Given the description of an element on the screen output the (x, y) to click on. 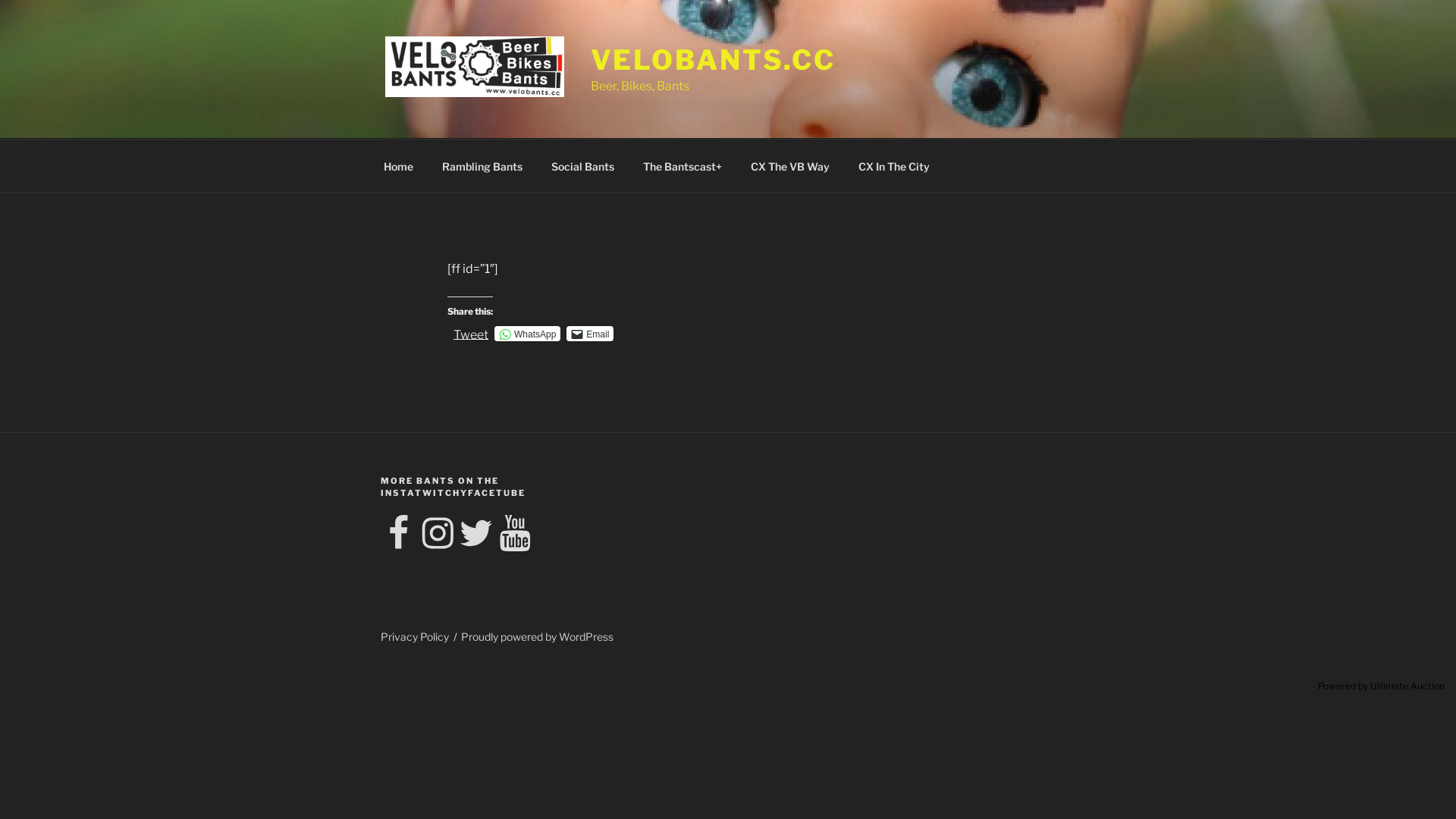
Social Bants Element type: text (582, 165)
Tweet Element type: text (470, 332)
Twitter Element type: text (476, 533)
Rambling Bants Element type: text (481, 165)
Home Element type: text (398, 165)
WhatsApp Element type: text (527, 333)
Powered by Ultimate Auction Element type: text (1380, 685)
CX In The City Element type: text (893, 165)
Instagram Element type: text (437, 533)
Privacy Policy Element type: text (414, 636)
CX The VB Way Element type: text (789, 165)
Facebook Element type: text (398, 533)
The Bantscast+ Element type: text (681, 165)
Email Element type: text (589, 333)
YouTube Element type: text (514, 533)
Proudly powered by WordPress Element type: text (537, 636)
VELOBANTS.CC Element type: text (713, 59)
